Given the description of an element on the screen output the (x, y) to click on. 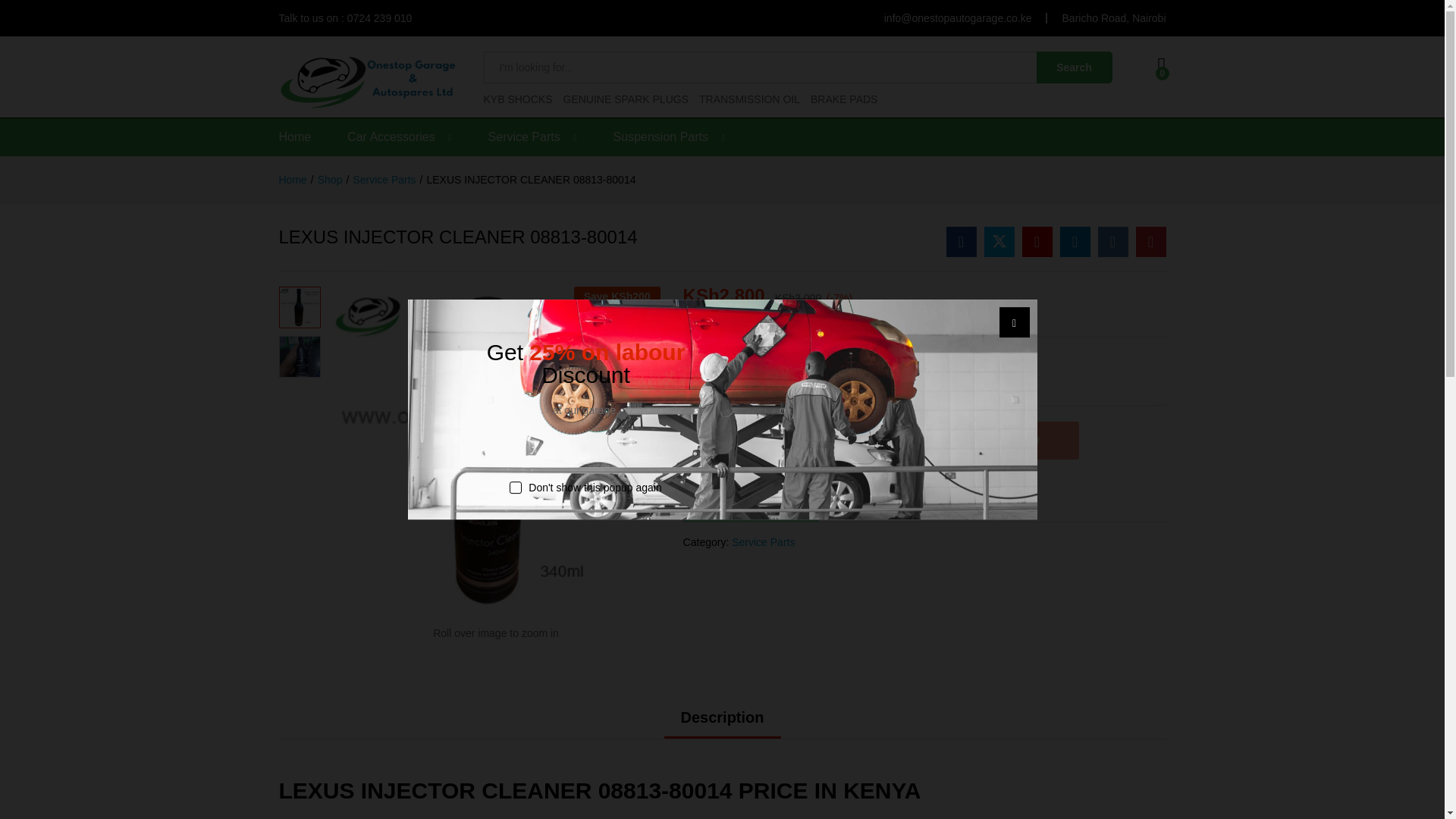
Suspension Parts (659, 137)
LEXUS INJECTOR CLEANER 08813-80014 (1037, 241)
GENUINE SPARK PLUGS (625, 99)
1 (721, 446)
08813-80014 (496, 450)
BRAKE PADS (843, 99)
KYB SHOCKS (518, 99)
TRANSMISSION OIL (748, 99)
Search (1074, 67)
Qty (721, 446)
Car Accessories (391, 137)
Home (295, 137)
Service Parts (523, 137)
LEXUS INJECTOR CLEANER 08813-80014 (961, 241)
